Given the description of an element on the screen output the (x, y) to click on. 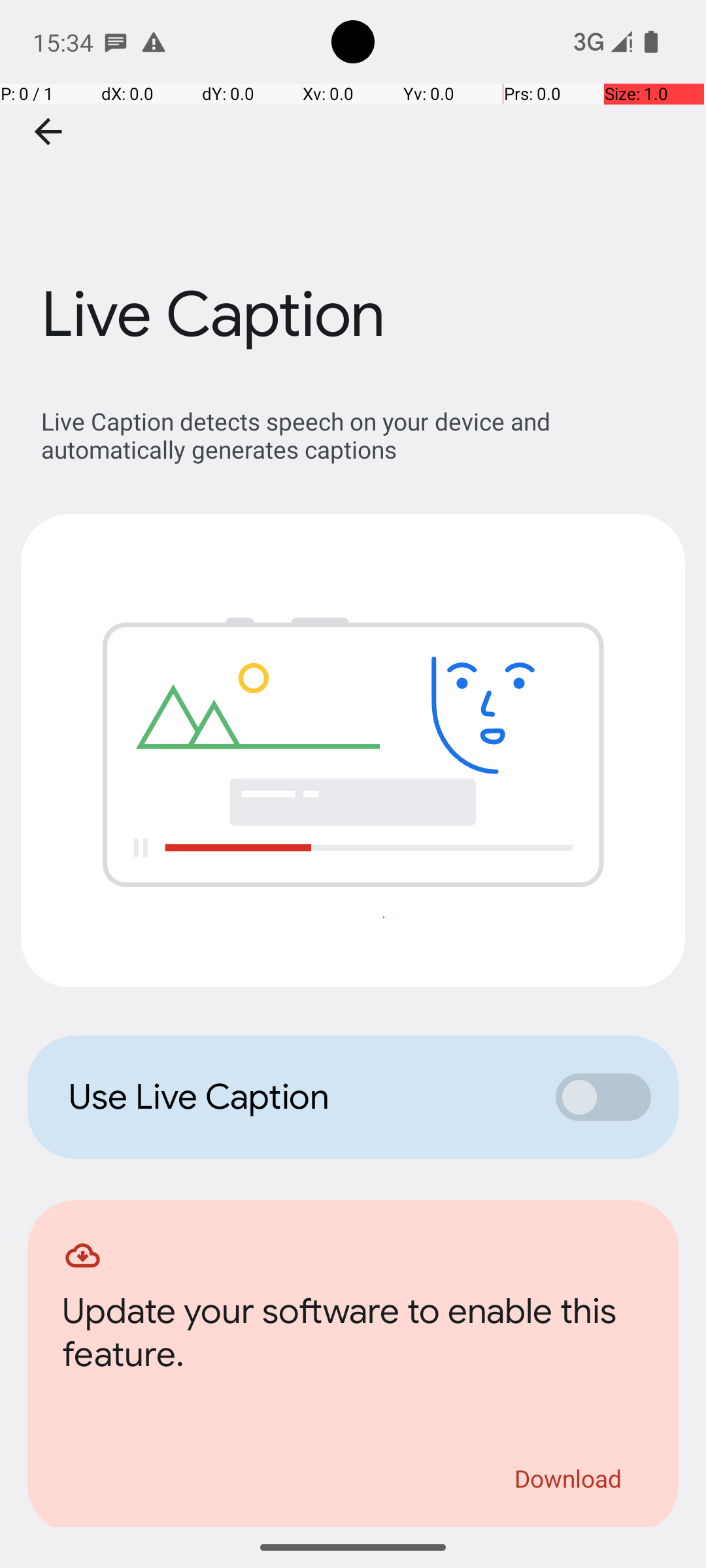
Live Caption detects speech on your device and automatically generates captions Element type: android.widget.TextView (359, 434)
Use Live Caption Element type: android.widget.TextView (298, 1096)
Update your software to enable this feature. Element type: android.widget.TextView (352, 1336)
